Given the description of an element on the screen output the (x, y) to click on. 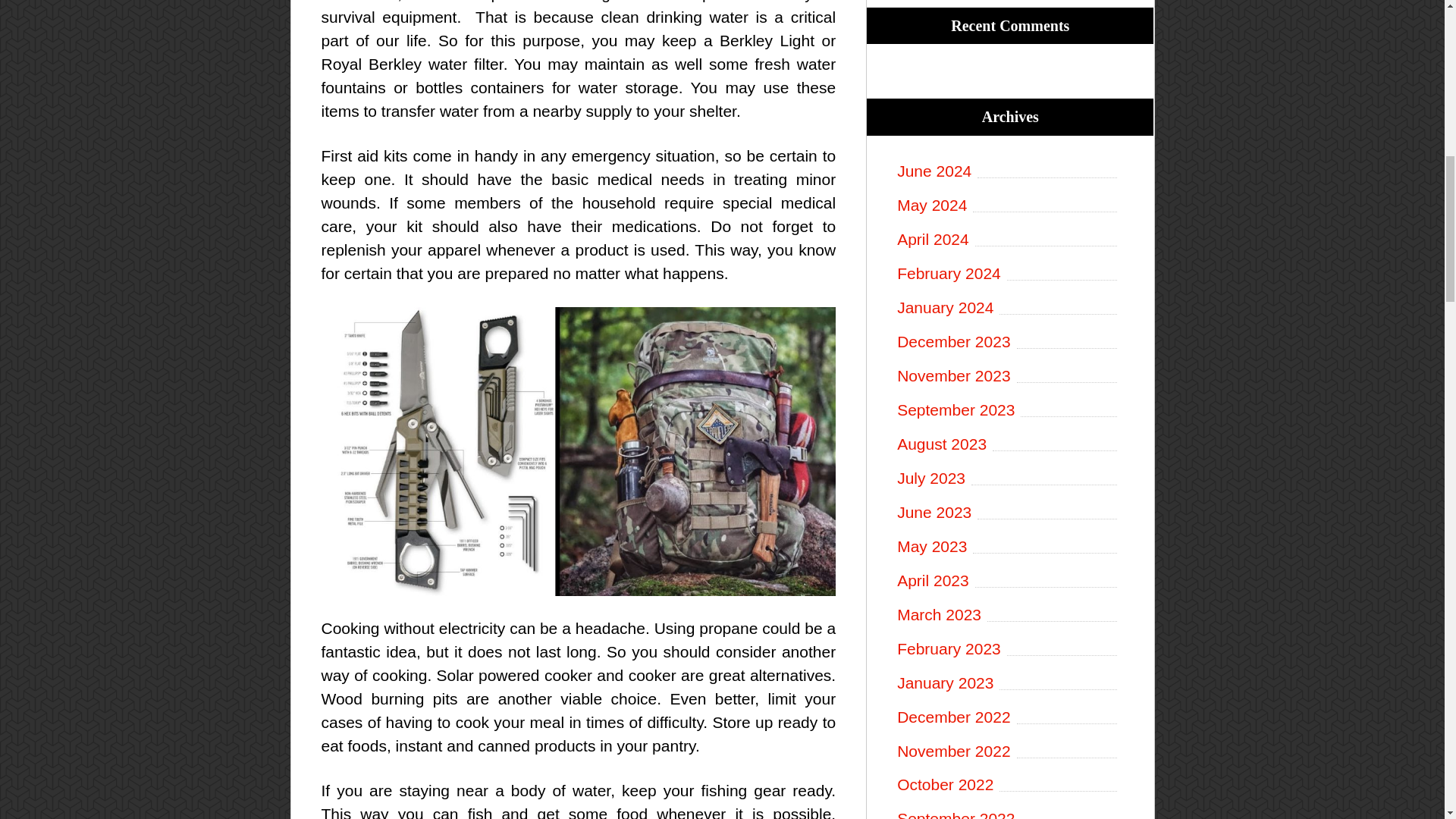
May 2024 (1009, 205)
December 2023 (1009, 341)
September 2023 (1009, 410)
May 2023 (1009, 546)
July 2023 (1009, 478)
June 2024 (1009, 171)
April 2024 (1009, 239)
April 2023 (1009, 580)
November 2023 (1009, 376)
February 2024 (1009, 273)
